Given the description of an element on the screen output the (x, y) to click on. 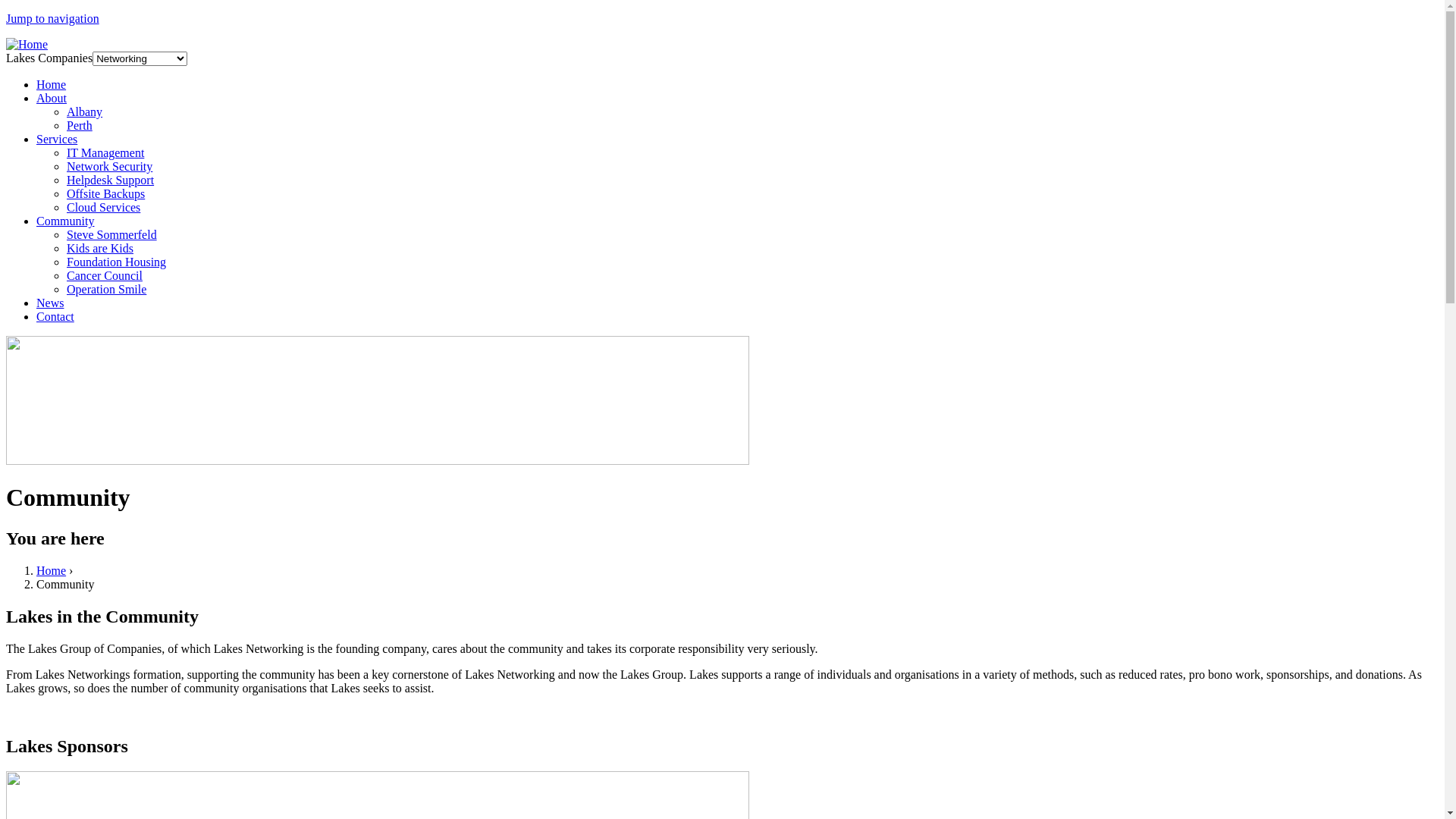
Cancer Council Element type: text (104, 275)
Helpdesk Support Element type: text (109, 179)
IT Management Element type: text (105, 152)
Kids are Kids Element type: text (99, 247)
Albany Element type: text (84, 111)
Home Element type: text (50, 84)
Cloud Services Element type: text (103, 206)
Operation Smile Element type: text (106, 288)
Network Security Element type: text (109, 166)
Home Element type: text (50, 570)
News Element type: text (49, 302)
Perth Element type: text (79, 125)
Contact Element type: text (55, 316)
Offsite Backups Element type: text (105, 193)
About Element type: text (51, 97)
Home Element type: hover (26, 43)
Services Element type: text (56, 138)
Community Element type: text (65, 220)
Steve Sommerfeld Element type: text (111, 234)
Foundation Housing Element type: text (116, 261)
Jump to navigation Element type: text (52, 18)
